Given the description of an element on the screen output the (x, y) to click on. 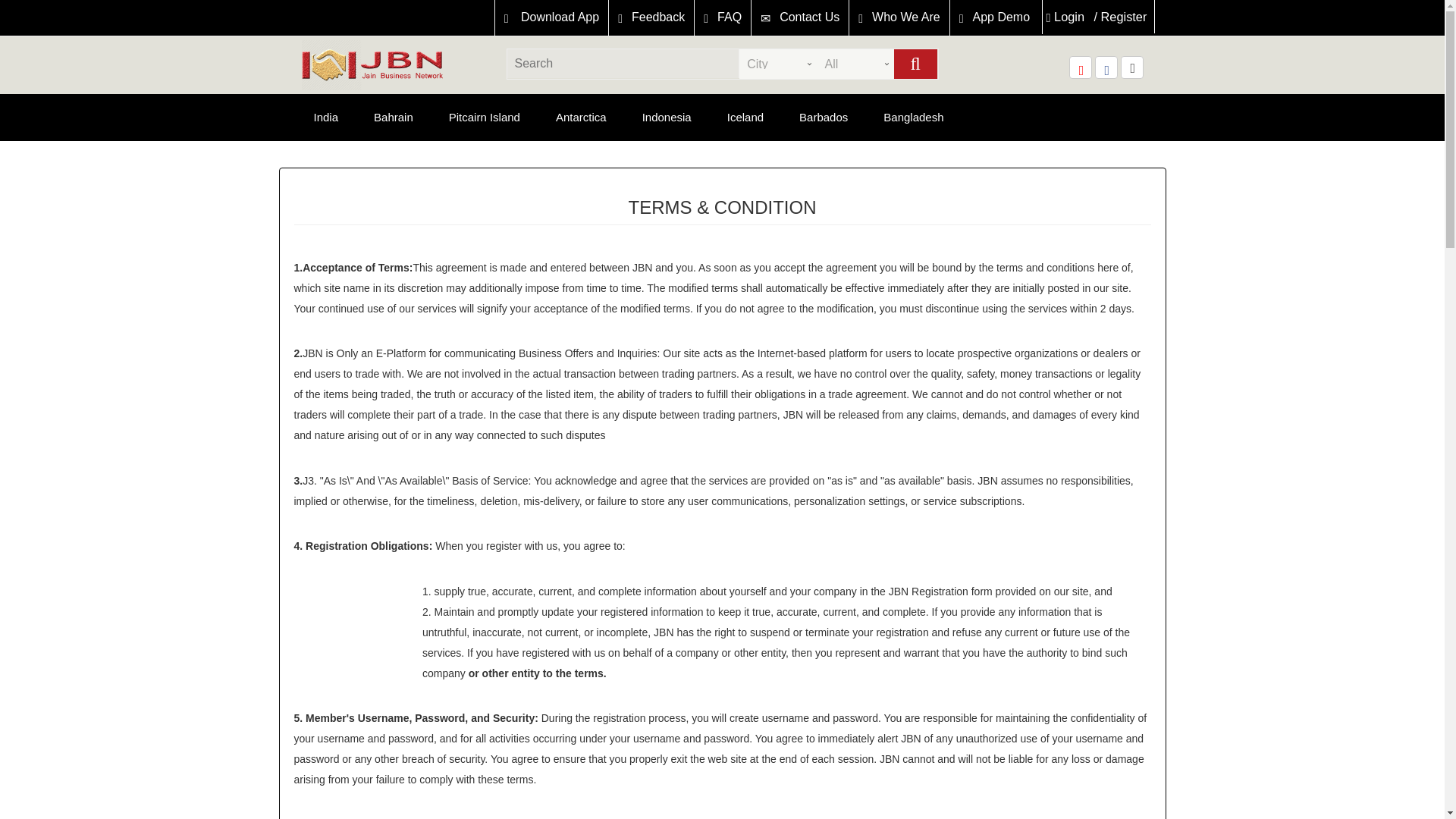
Who We Are (898, 18)
Bangladesh (912, 117)
Contact Us (799, 18)
Pitcairn Island (484, 117)
LinkedIn (1131, 66)
Barbados (823, 117)
Iceland (745, 117)
Youtube (1080, 67)
Feedback (651, 18)
App Demo (994, 18)
